Given the description of an element on the screen output the (x, y) to click on. 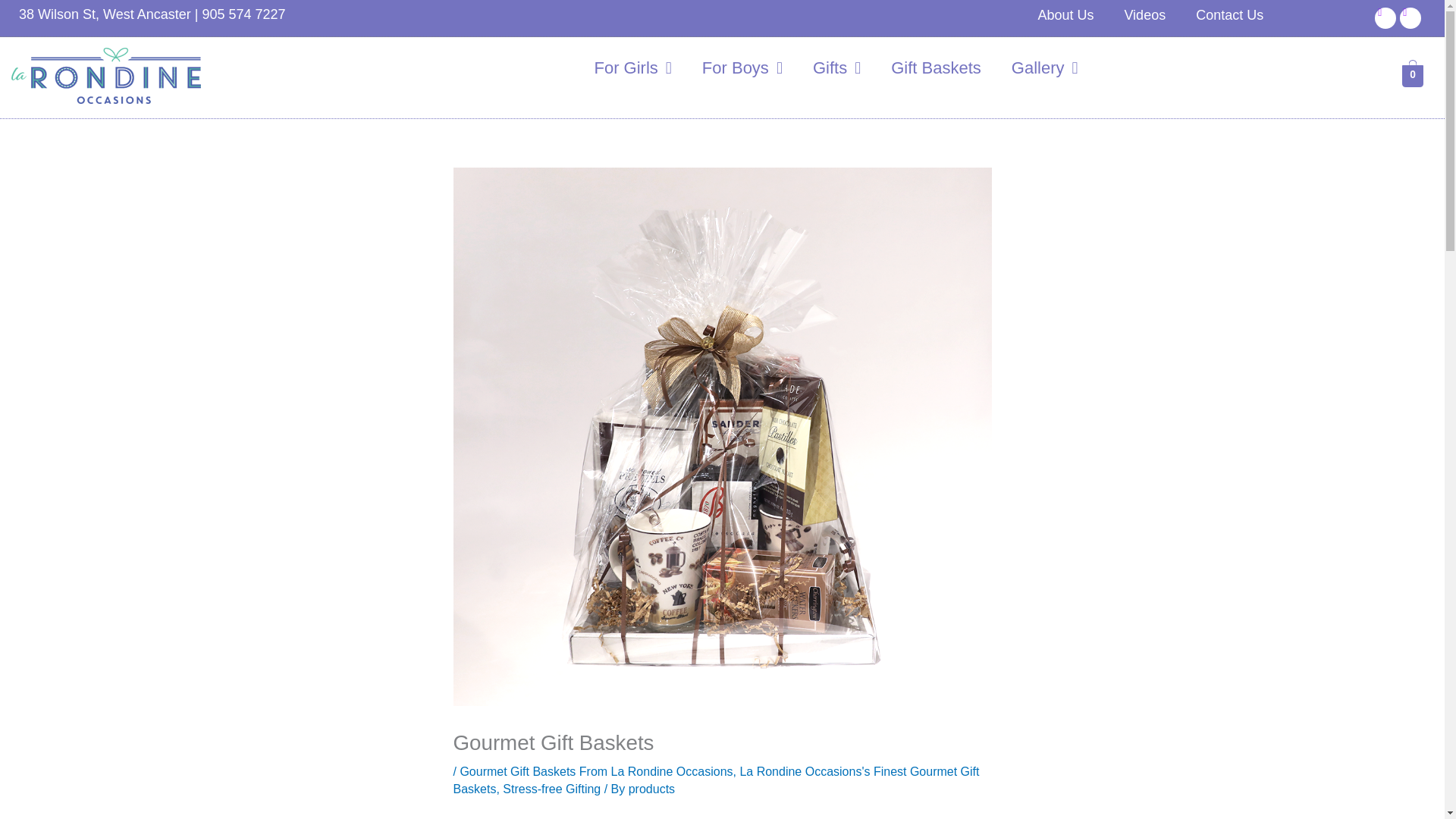
Contact Us (1229, 14)
For Boys (742, 68)
Videos (1144, 14)
About Us (1065, 14)
Gallery (1044, 68)
Gifts (836, 68)
Facebook (1385, 17)
View your shopping cart (1412, 74)
For Girls (631, 68)
View all posts by products (651, 788)
Instagram (1410, 17)
Gift Baskets (935, 68)
